Given the description of an element on the screen output the (x, y) to click on. 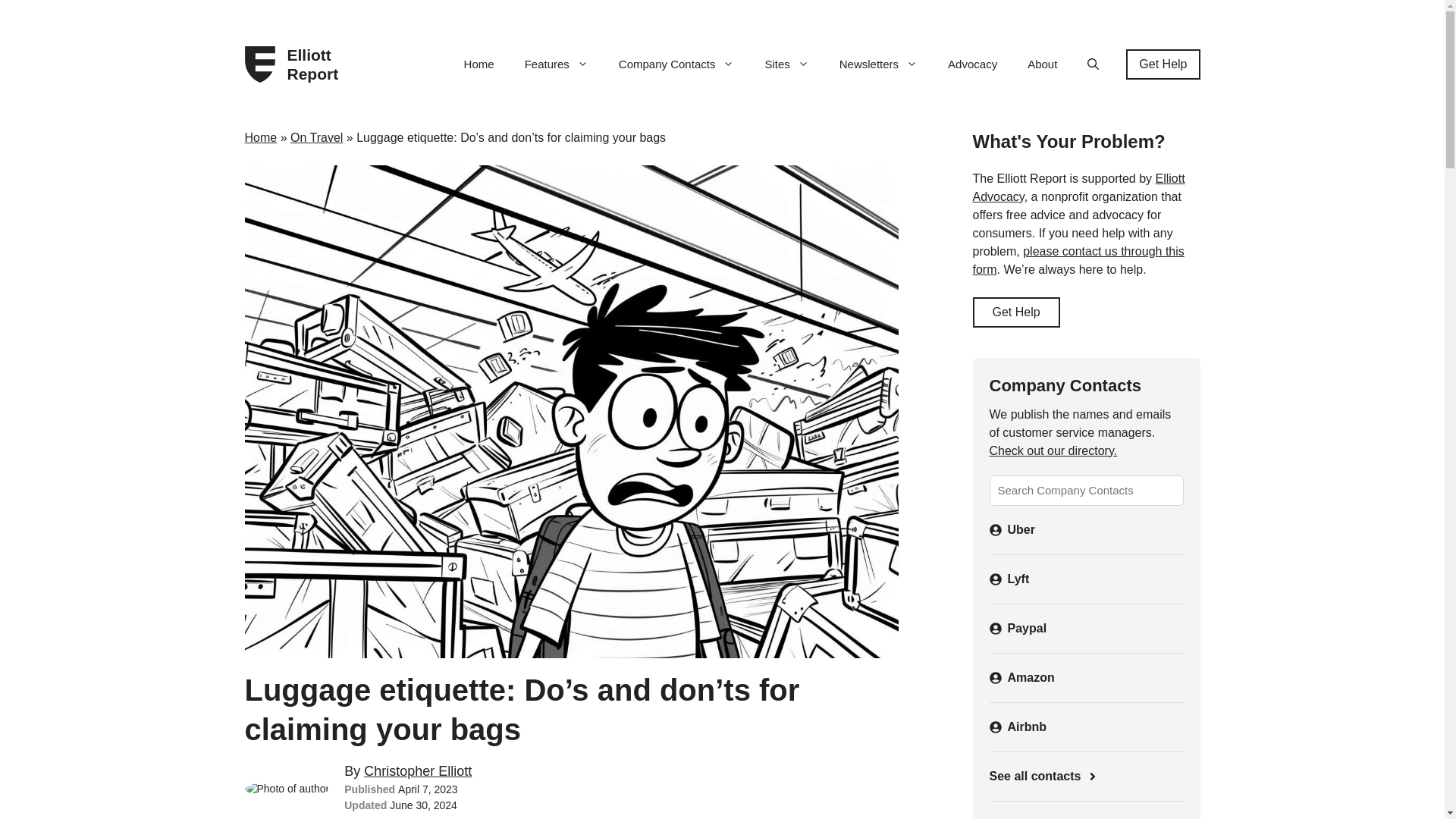
Elliott Report (318, 64)
Features (556, 64)
About (1041, 64)
Get Help (1162, 64)
Home (478, 64)
Advertisement (1085, 814)
Sites (786, 64)
Newsletters (878, 64)
Advocacy (972, 64)
Company Contacts (676, 64)
